Given the description of an element on the screen output the (x, y) to click on. 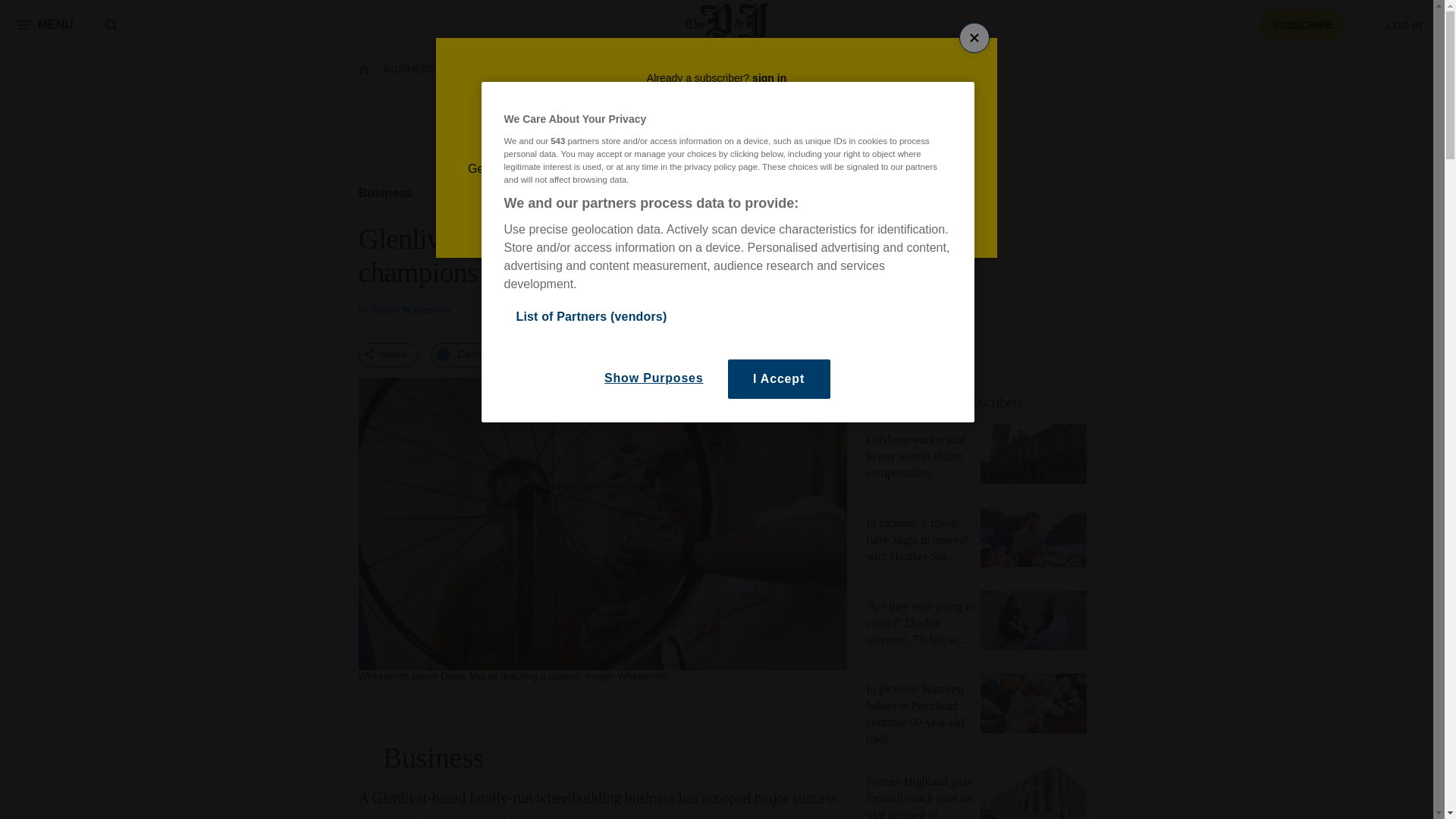
Offshore worker told to pay assault victim compensation (915, 456)
Offshore worker told to pay assault victim compensation (1032, 456)
MENU (44, 24)
Exclusive to our subscribers (944, 402)
Exclusive to our subscribers (981, 402)
Press and Journal (727, 24)
